Given the description of an element on the screen output the (x, y) to click on. 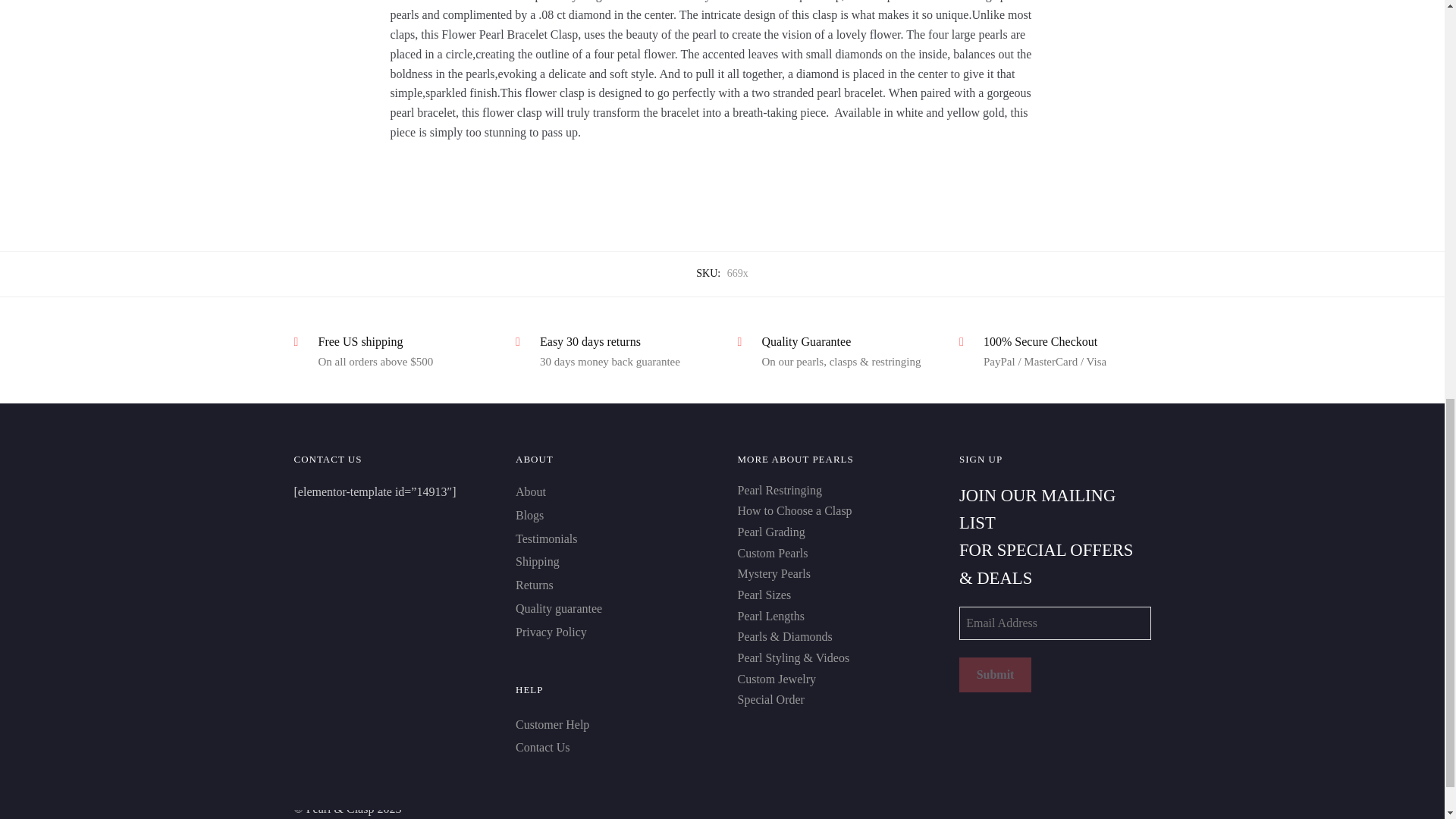
Submit (994, 674)
